Given the description of an element on the screen output the (x, y) to click on. 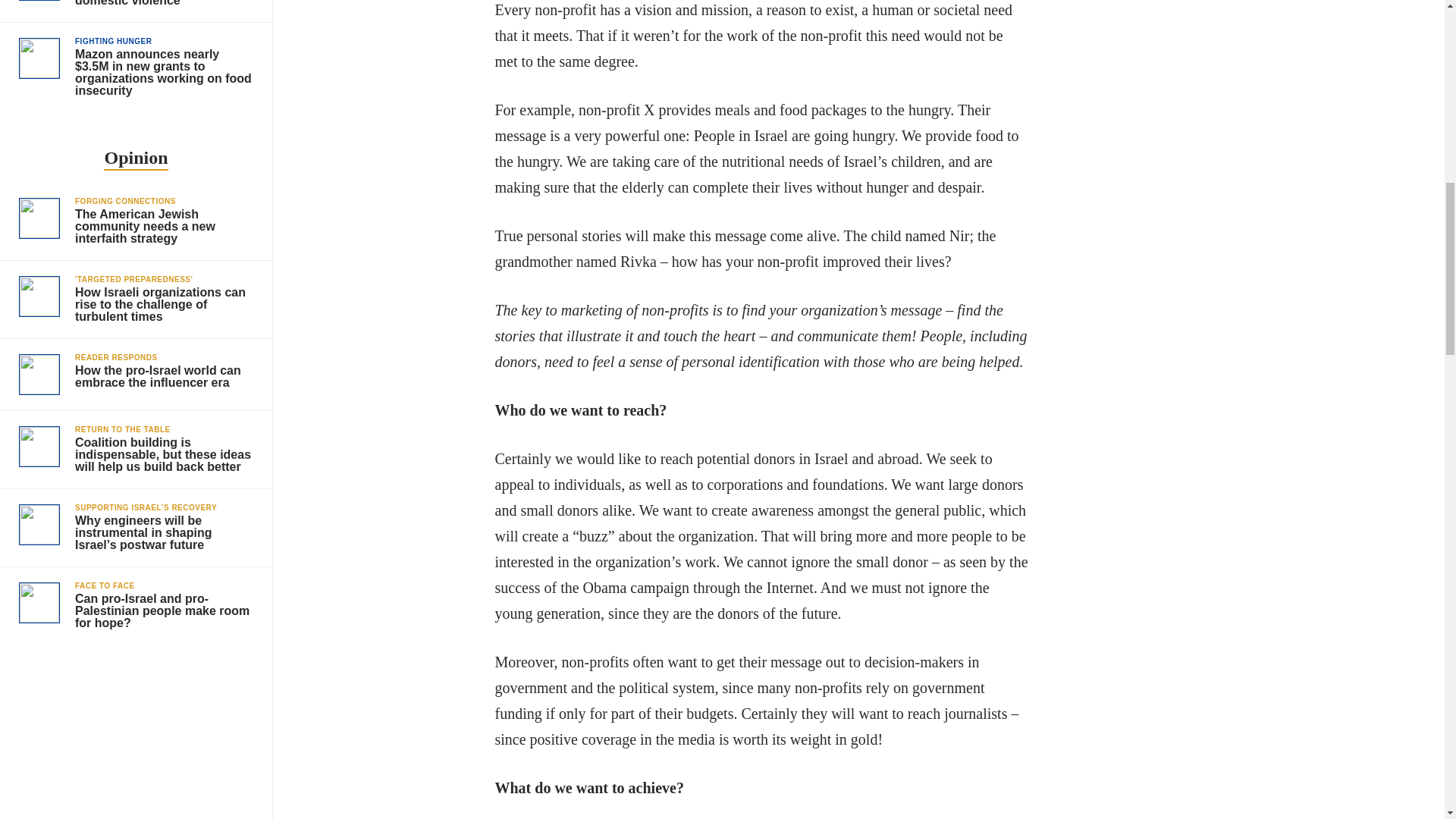
Opinion (135, 159)
